Given the description of an element on the screen output the (x, y) to click on. 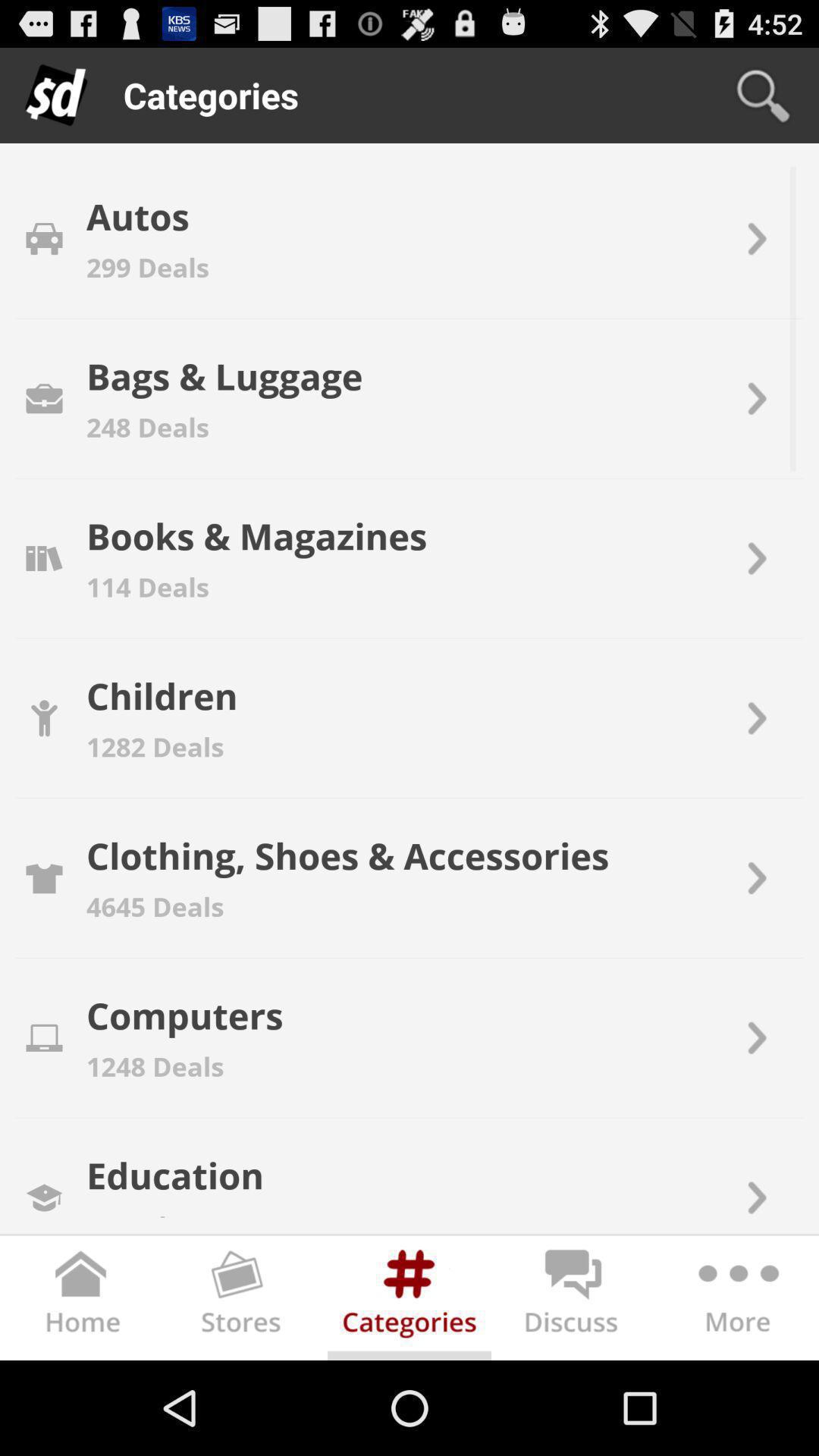
more apps (736, 1300)
